Given the description of an element on the screen output the (x, y) to click on. 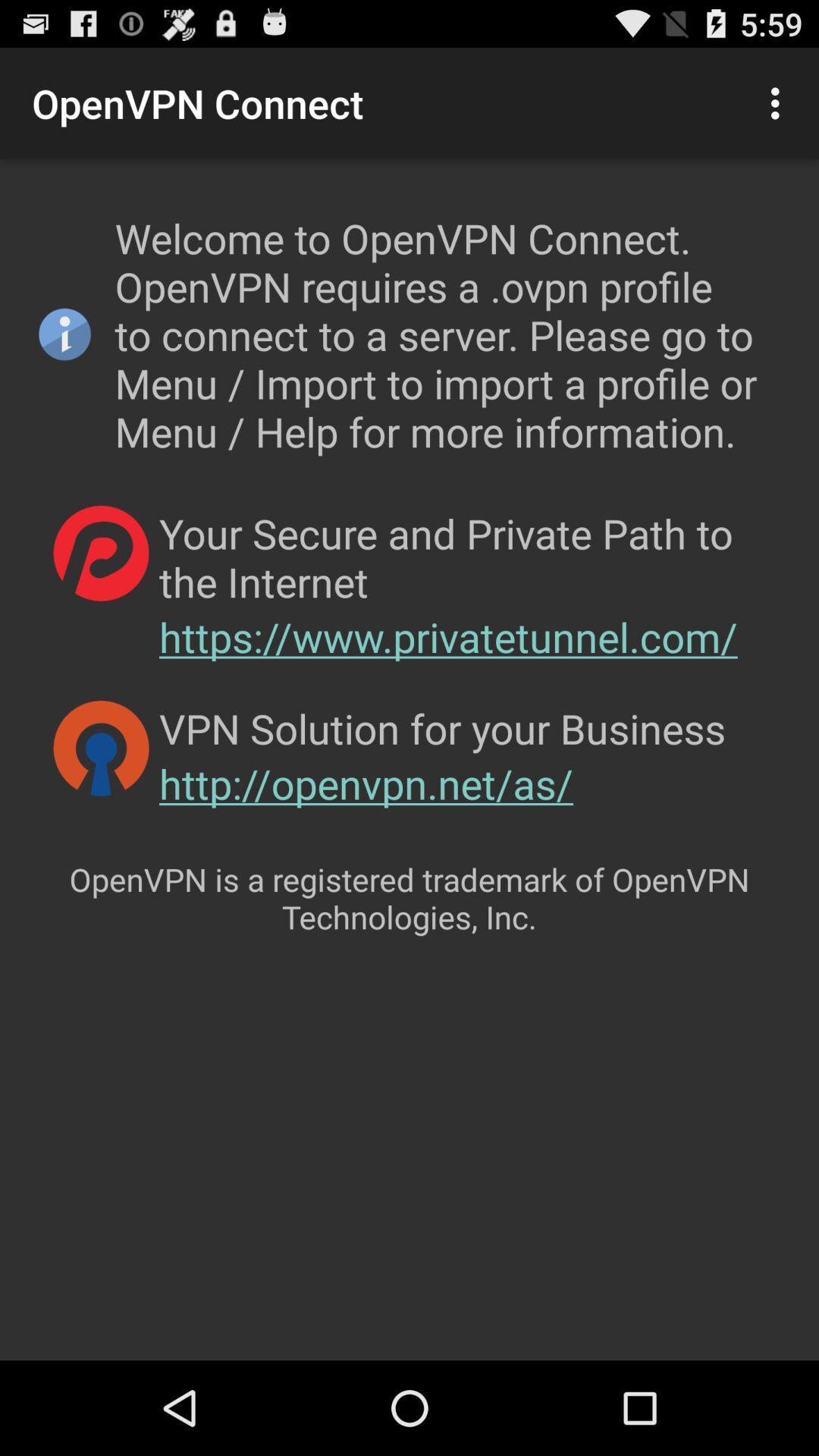
turn on icon next to the openvpn connect app (779, 103)
